Given the description of an element on the screen output the (x, y) to click on. 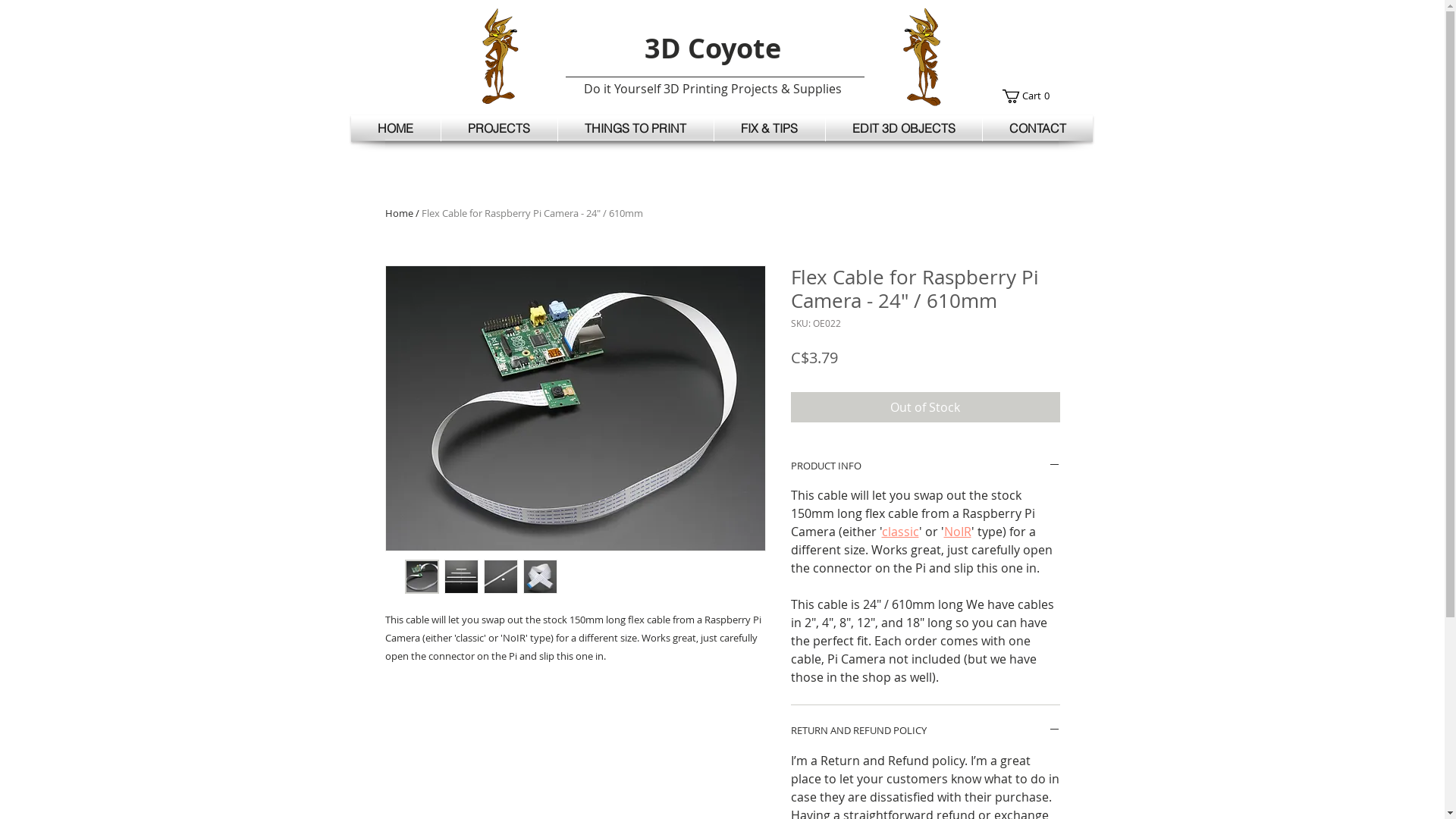
CONTACT Element type: text (1037, 128)
classic Element type: text (899, 531)
PRODUCT INFO Element type: text (924, 465)
FIX & TIPS Element type: text (769, 128)
Flex Cable for Raspberry Pi Camera - 24" / 610mm Element type: text (532, 212)
NoIR Element type: text (956, 531)
THINGS TO PRINT Element type: text (635, 128)
Cart
0 Element type: text (1028, 96)
Do it Yourself 3D Printing Projects & Supplies Element type: text (712, 88)
3D Coyote Element type: text (712, 47)
Home Element type: text (399, 212)
HOME Element type: text (394, 128)
RETURN AND REFUND POLICY Element type: text (924, 730)
PROJECTS Element type: text (499, 128)
Out of Stock Element type: text (924, 407)
EDIT 3D OBJECTS Element type: text (903, 128)
